Given the description of an element on the screen output the (x, y) to click on. 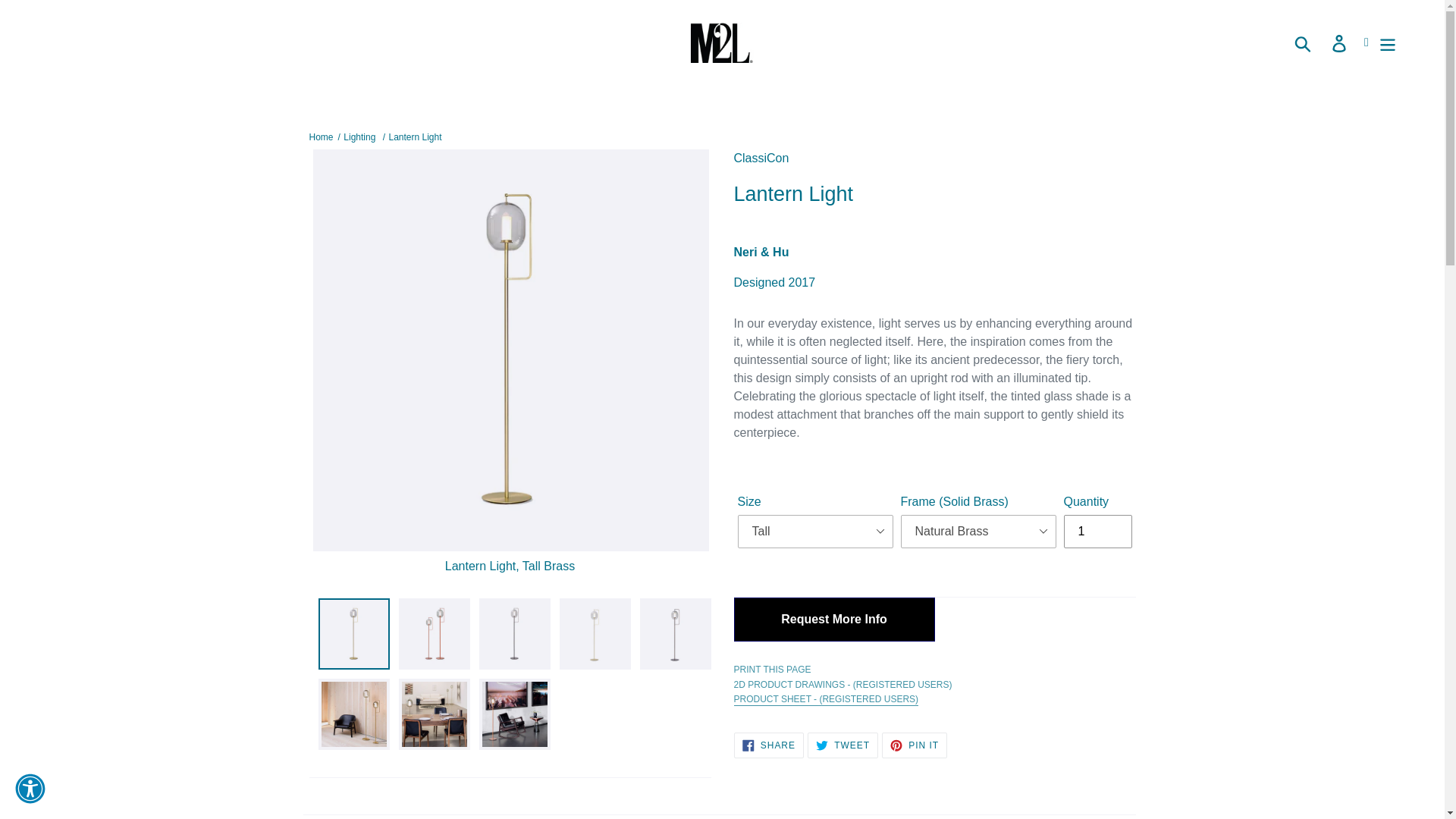
Log in (1340, 41)
1 (1096, 531)
Submit (1303, 41)
